Given the description of an element on the screen output the (x, y) to click on. 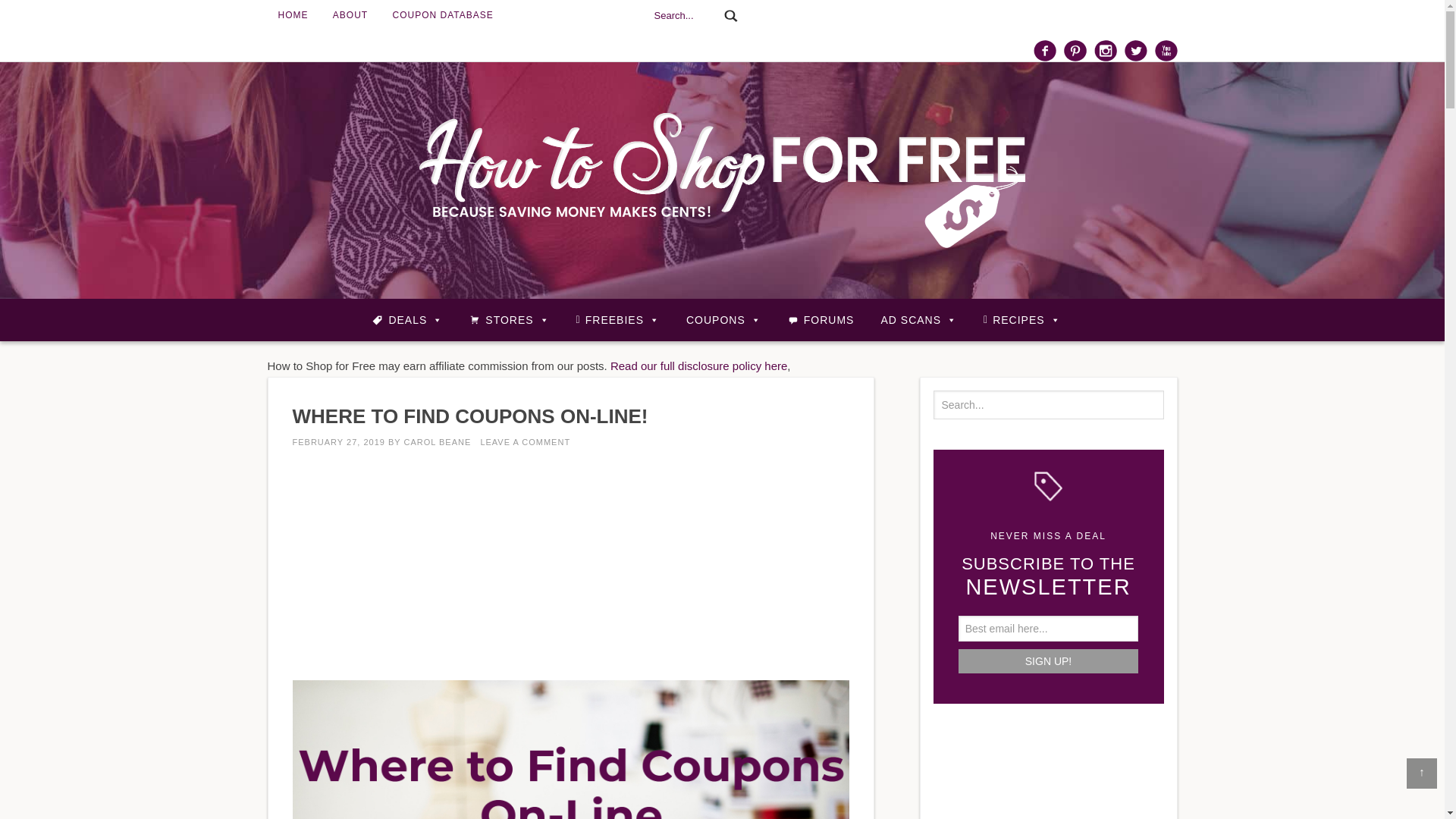
ABOUT (349, 15)
Sign Up! (1048, 661)
STORES (508, 319)
HOW TO SHOP FOR FREE (722, 180)
DEALS (407, 319)
FREEBIES (617, 319)
COUPON DATABASE (442, 15)
HOME (292, 15)
